Given the description of an element on the screen output the (x, y) to click on. 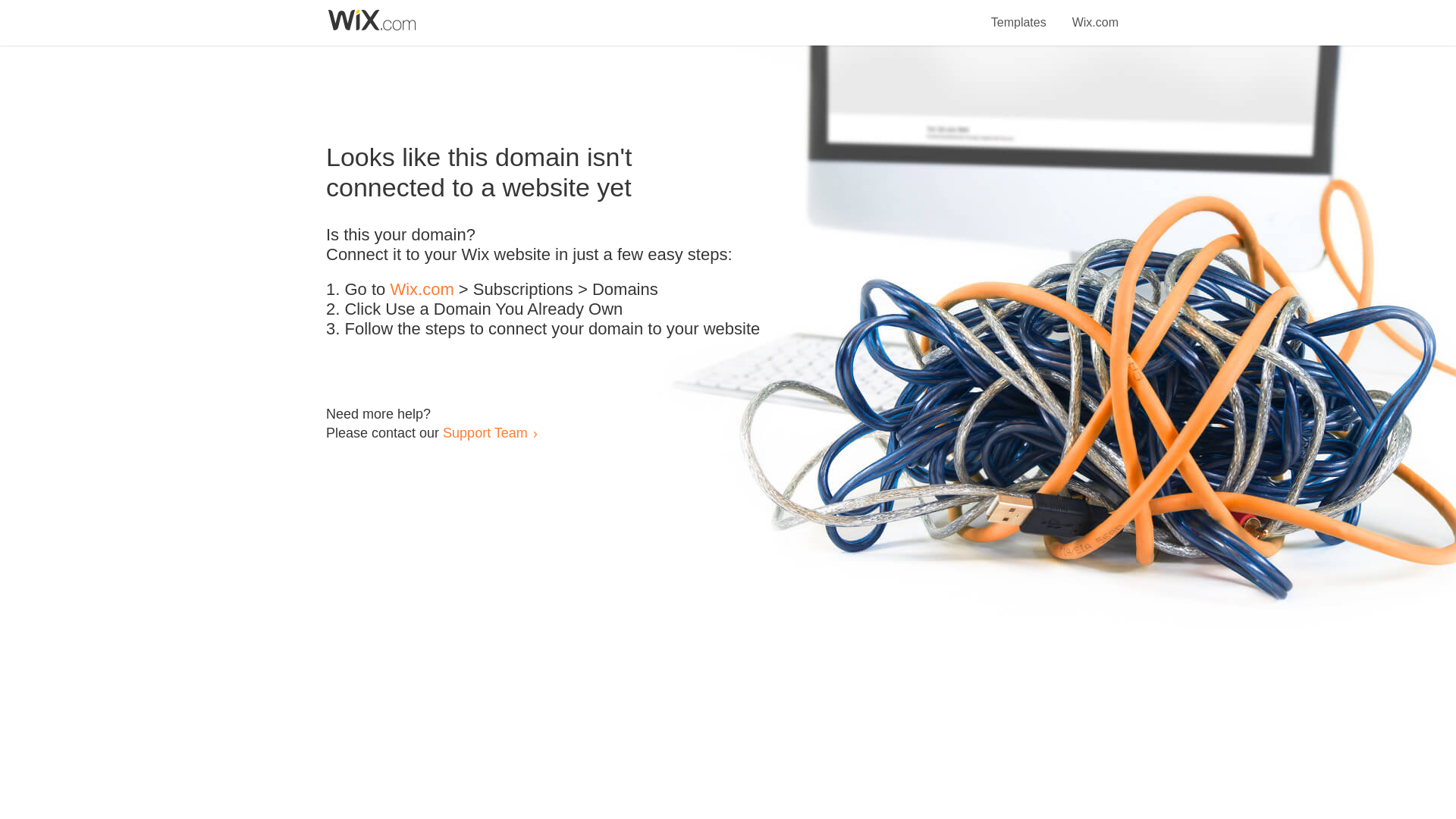
Wix.com (421, 289)
Wix.com (1095, 14)
Support Team (484, 432)
Templates (1018, 14)
